Given the description of an element on the screen output the (x, y) to click on. 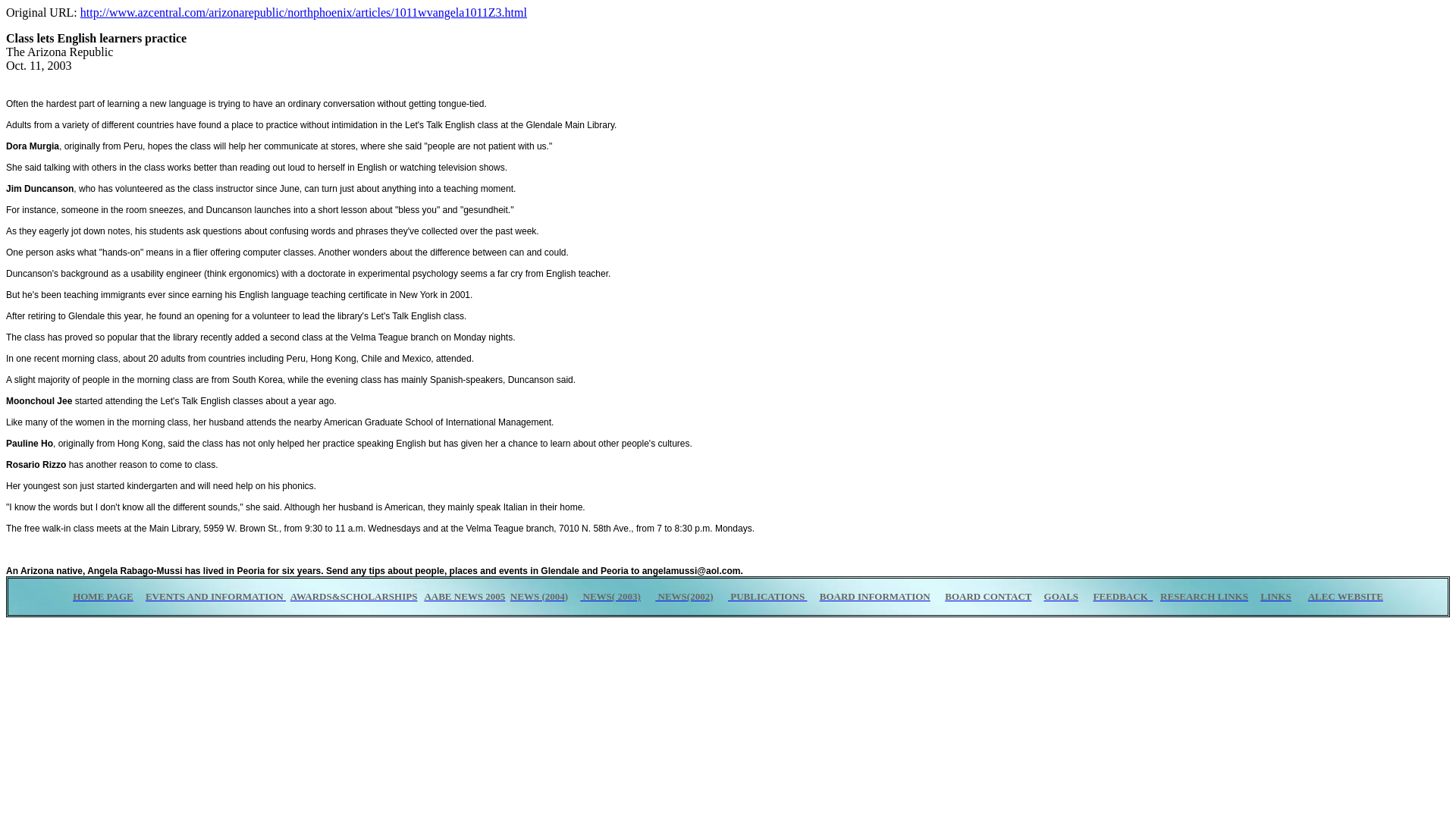
RESEARCH LINKS (1203, 595)
 PUBLICATIONS (768, 595)
BOARD CONTACT (987, 595)
GOALS (1060, 595)
FEEDBACK (1120, 595)
BOARD INFORMATION (874, 595)
HOME PAGE (102, 594)
LINKS (1275, 595)
ALEC WEBSITE (1345, 595)
EVENTS AND INFORMATION (215, 595)
AABE NEWS 2005 (464, 595)
